Given the description of an element on the screen output the (x, y) to click on. 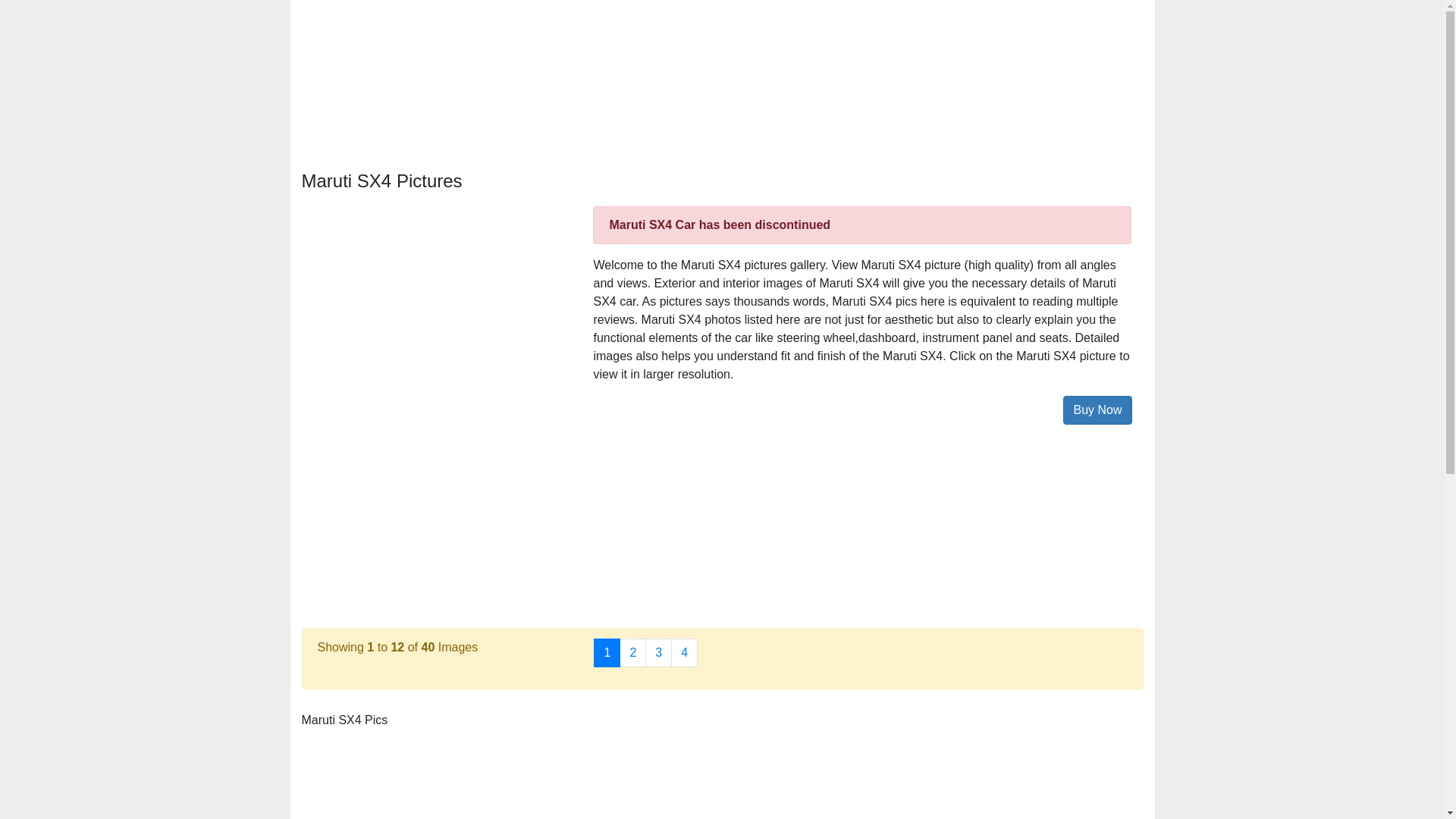
2 (633, 652)
4 (684, 652)
Buy Now (1096, 410)
3 (658, 652)
1 (607, 652)
